Given the description of an element on the screen output the (x, y) to click on. 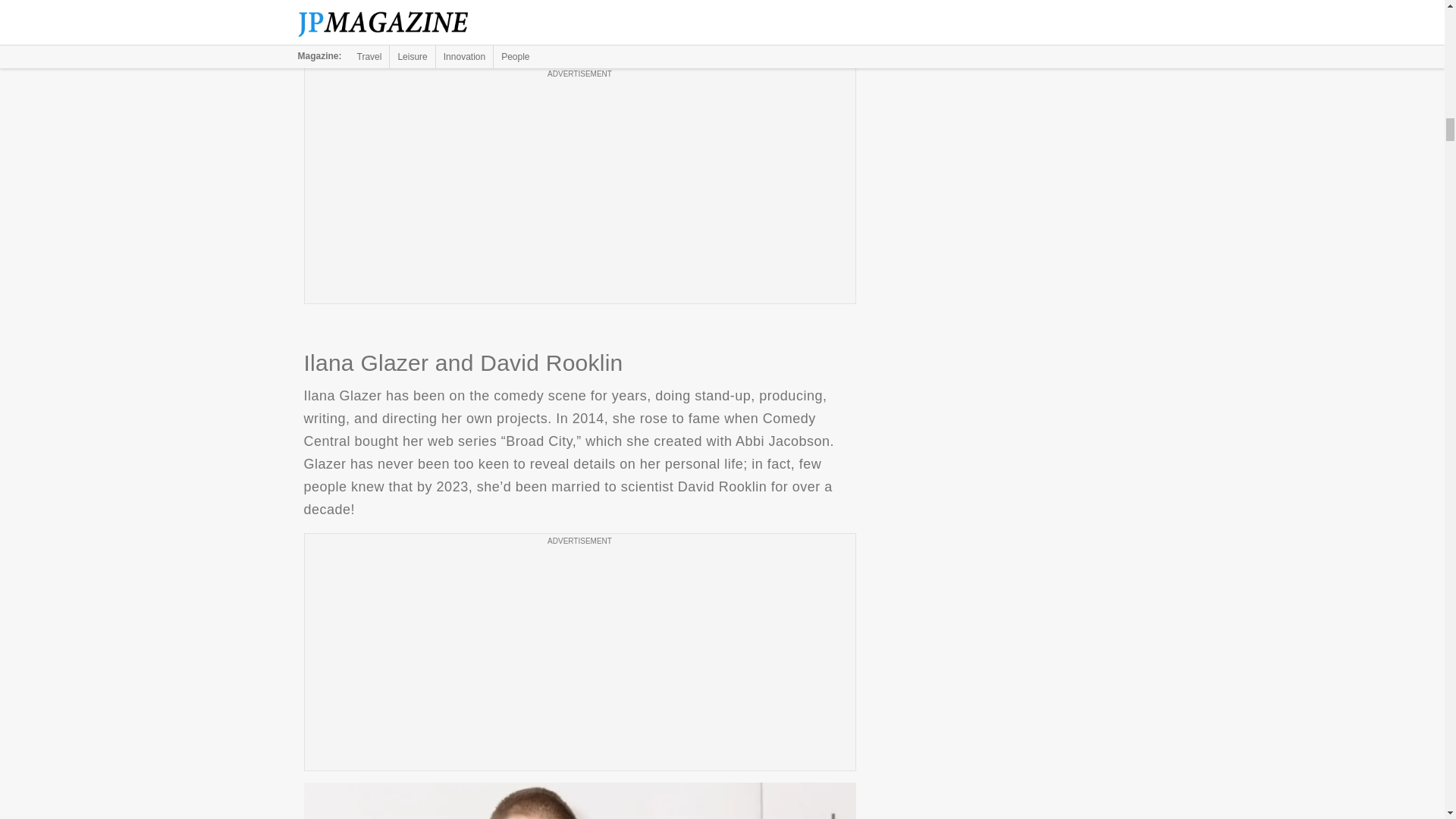
Ilana Glazer and David Rooklin (579, 800)
